Given the description of an element on the screen output the (x, y) to click on. 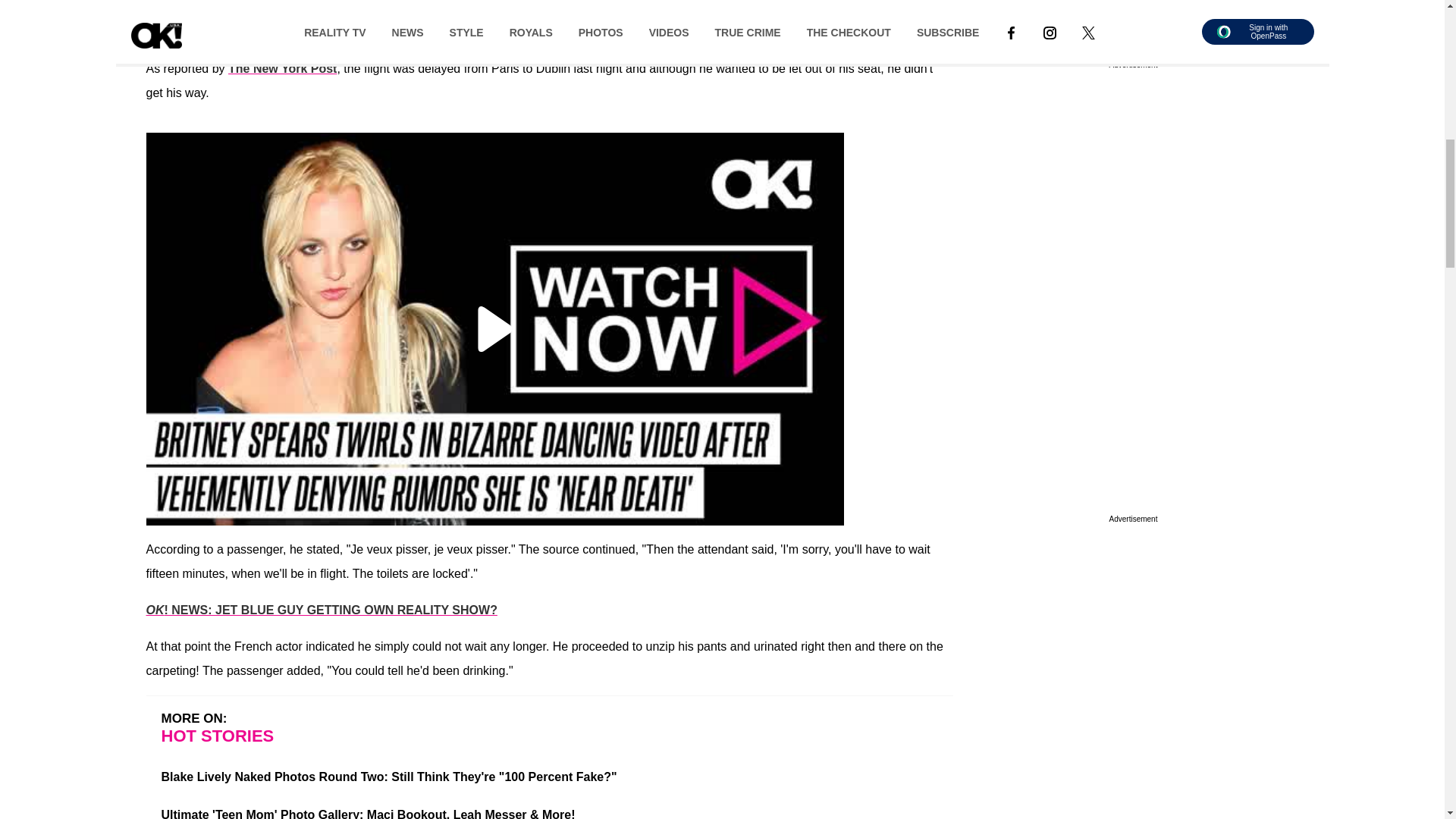
OK (154, 31)
